Given the description of an element on the screen output the (x, y) to click on. 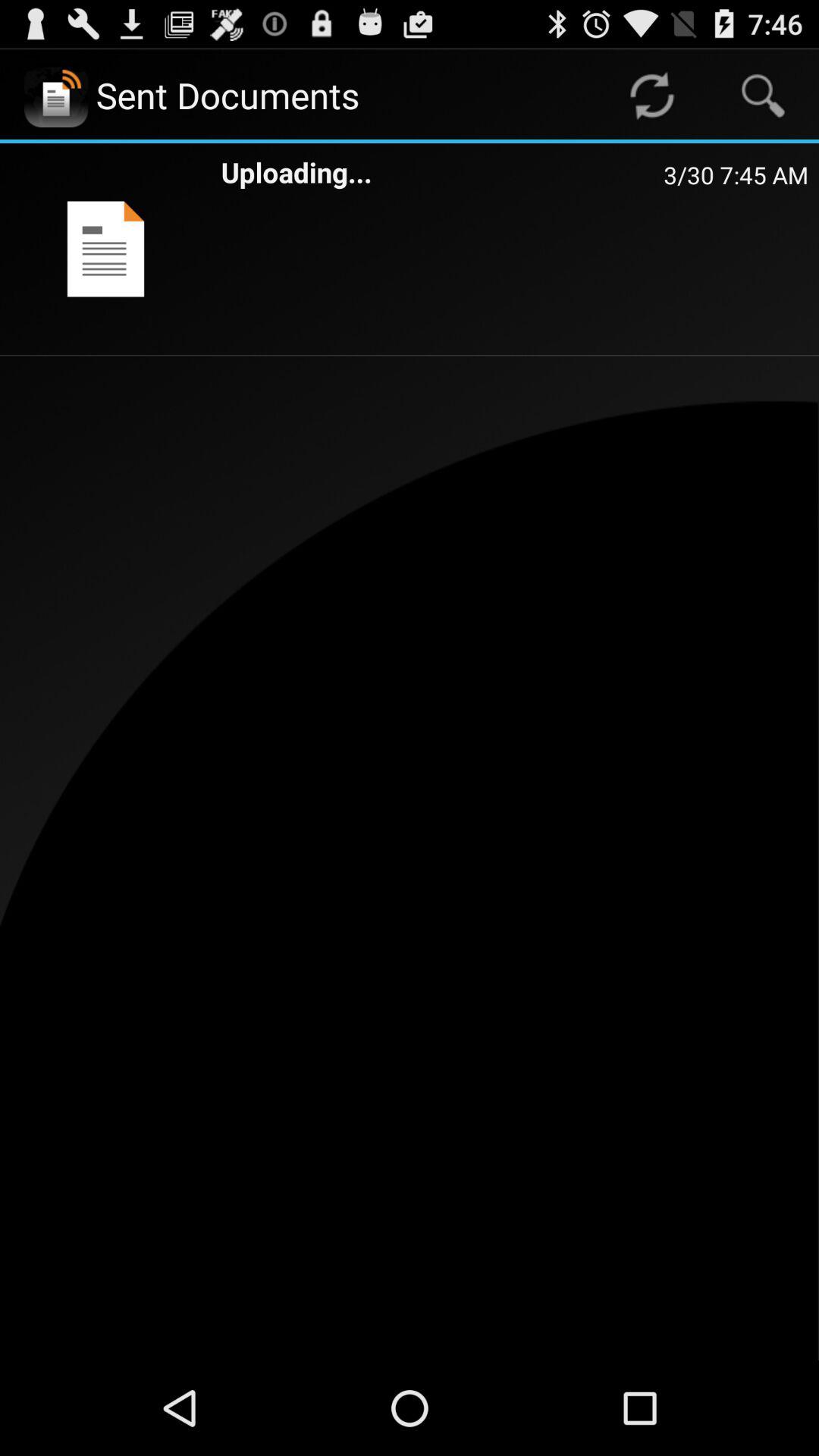
select app to the right of sent documents icon (651, 95)
